Given the description of an element on the screen output the (x, y) to click on. 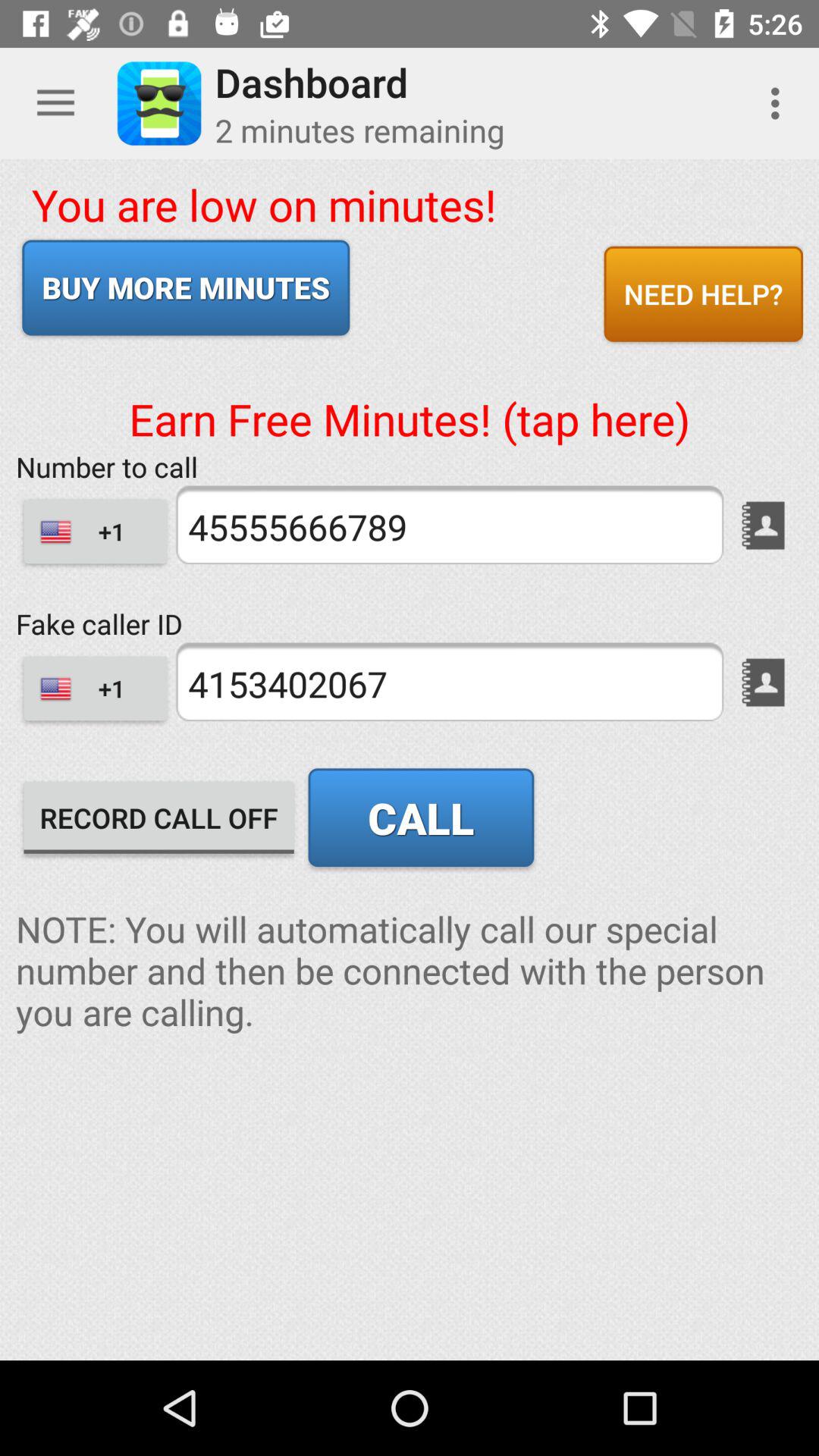
turn off the item next to the call icon (158, 817)
